Given the description of an element on the screen output the (x, y) to click on. 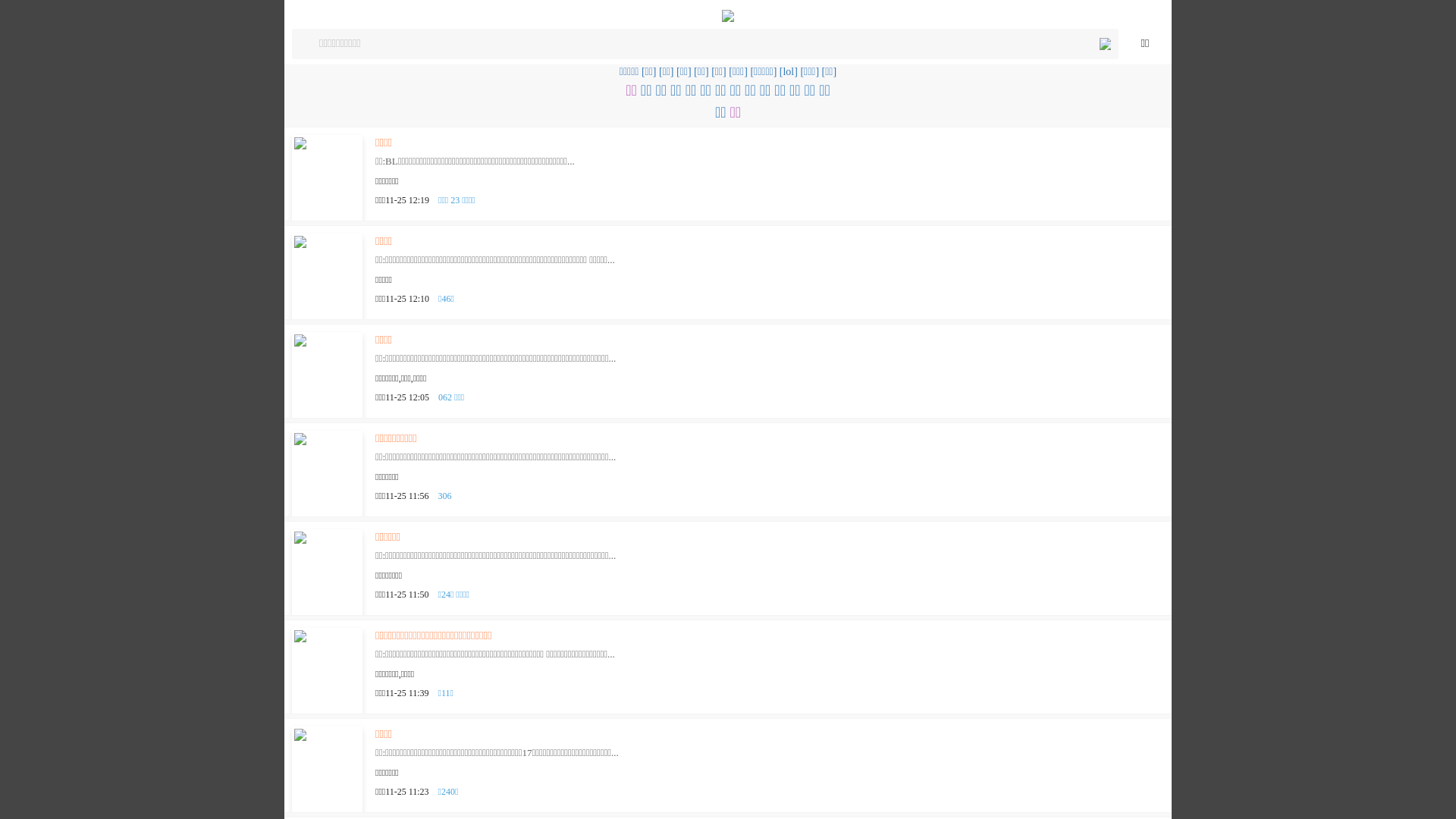
[lol] Element type: text (788, 71)
